Given the description of an element on the screen output the (x, y) to click on. 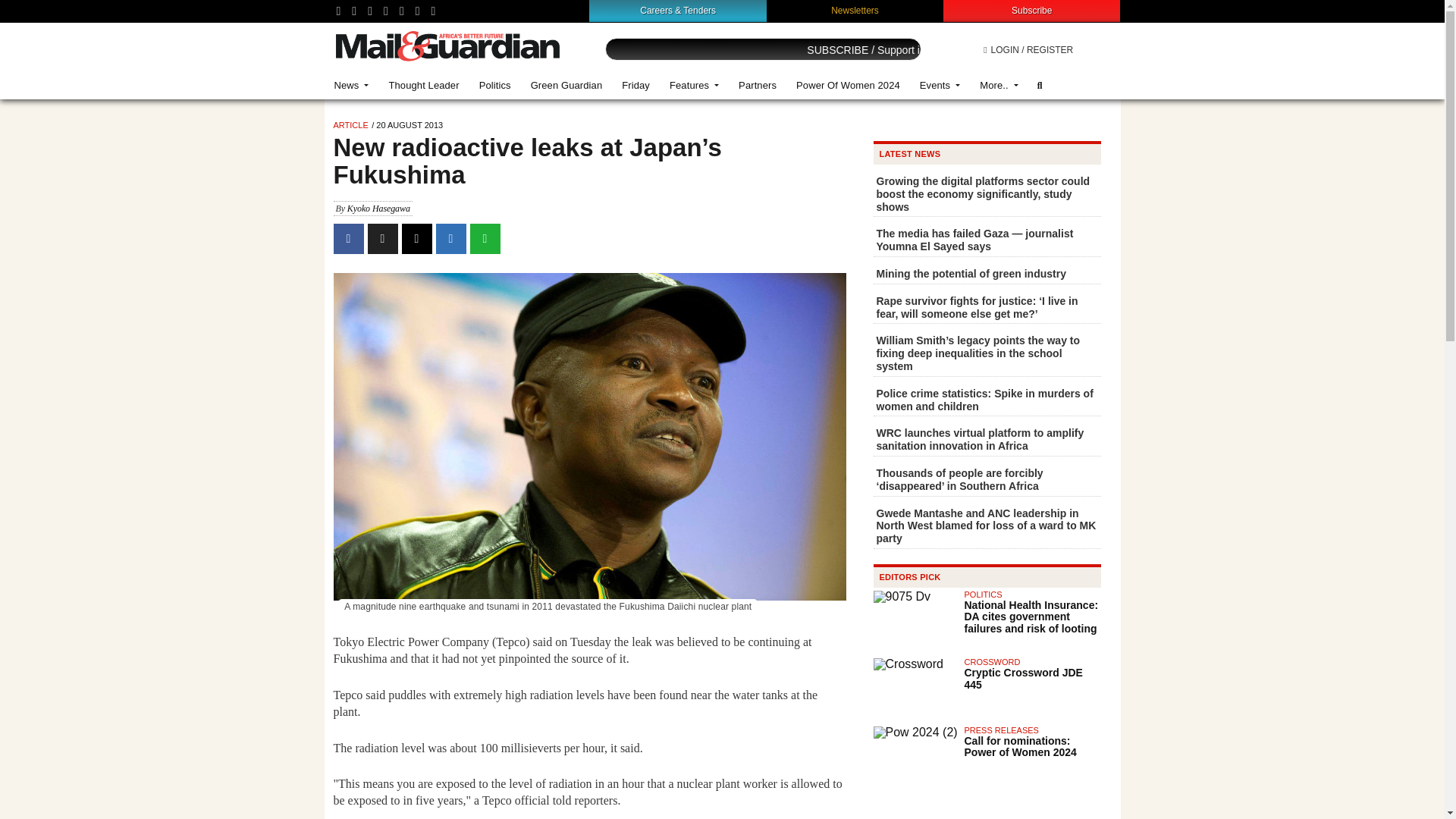
News (351, 85)
Newsletters (855, 9)
Friday (635, 85)
Green Guardian (566, 85)
Subscribe (1031, 9)
Thought Leader (423, 85)
Features (694, 85)
News (351, 85)
Politics (494, 85)
